Given the description of an element on the screen output the (x, y) to click on. 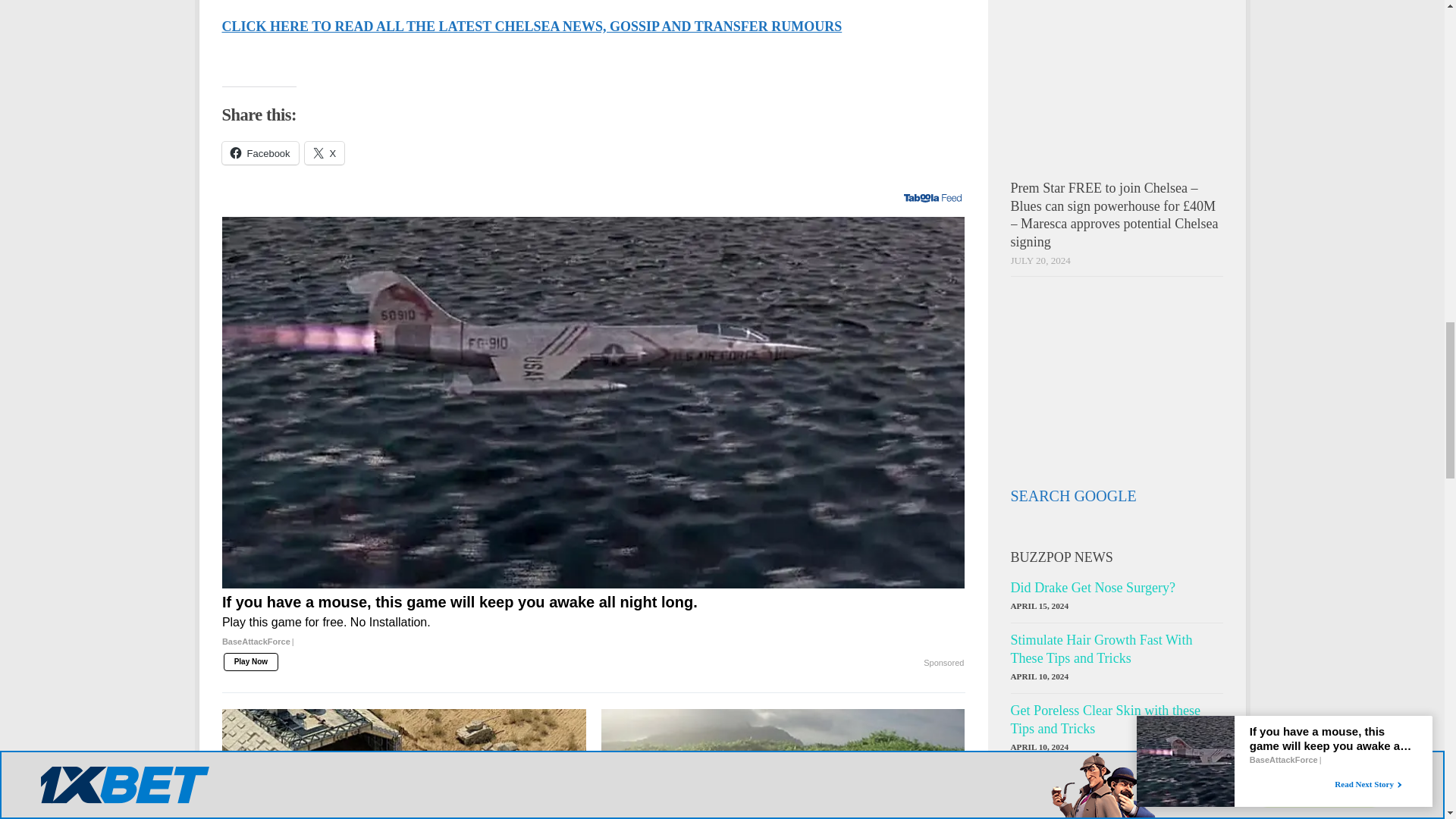
X (324, 152)
Click to share on X (324, 152)
Click to share on Facebook (259, 152)
"Description: Play this game for free. No Installation." (593, 622)
Facebook (259, 152)
Play Now (251, 661)
Sponsored (943, 663)
